Given the description of an element on the screen output the (x, y) to click on. 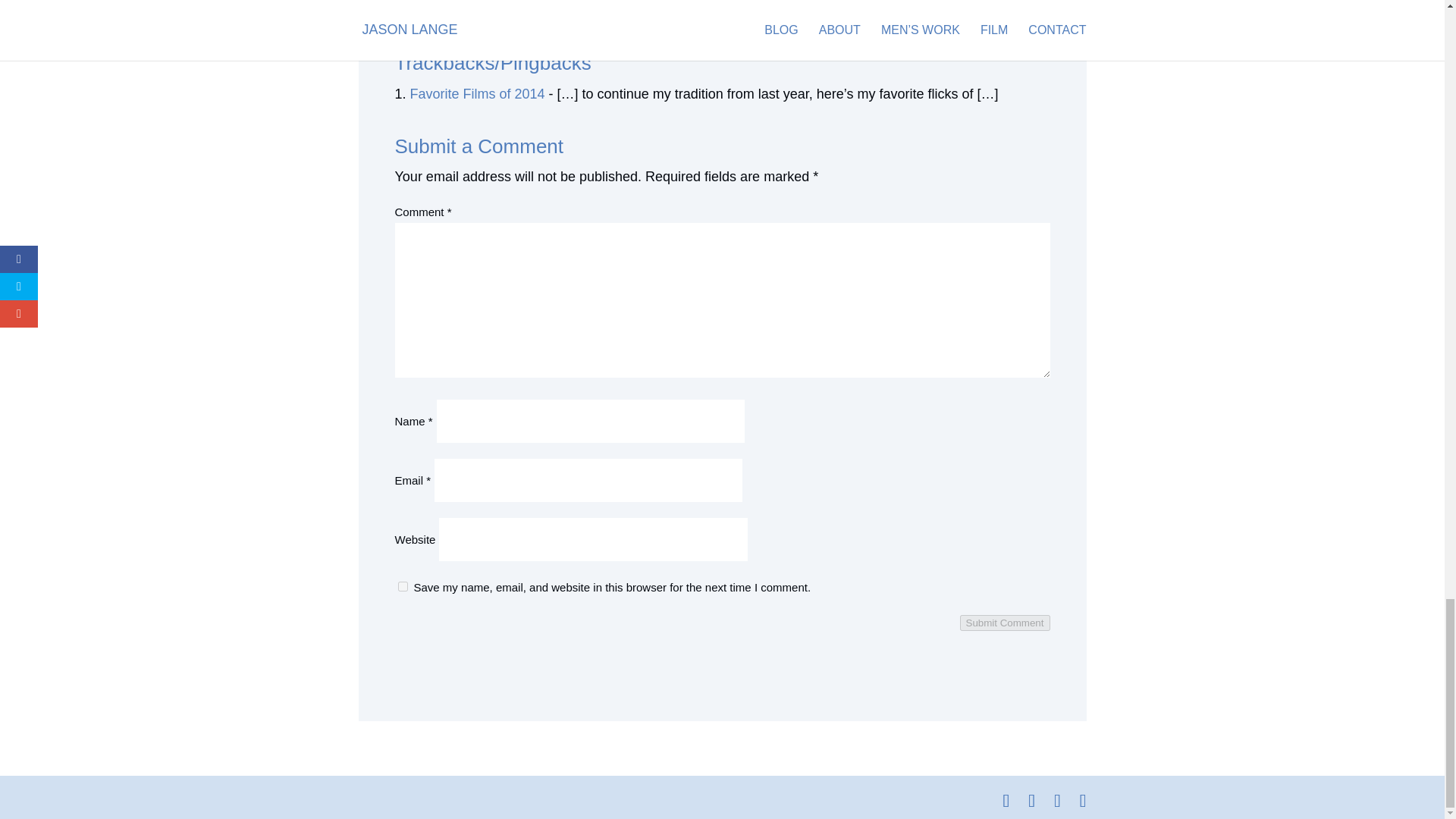
yes (402, 586)
Submit Comment (1004, 622)
Favorite Films of 2014 (477, 93)
